Given the description of an element on the screen output the (x, y) to click on. 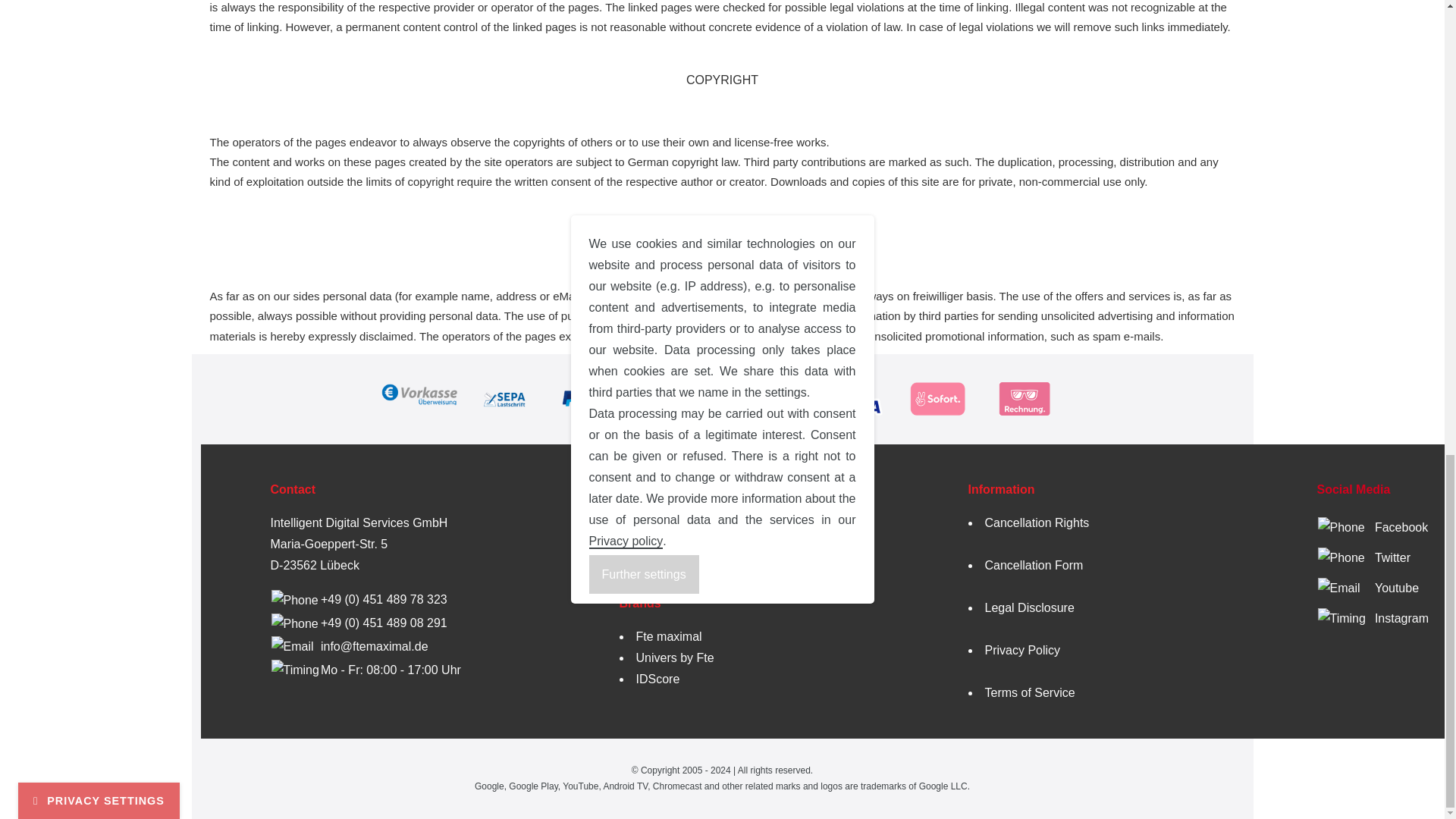
Univers by Fte (673, 657)
Shipping Information (676, 545)
Terms of Payment (668, 568)
Fte maximal (667, 635)
Contact (641, 522)
